Given the description of an element on the screen output the (x, y) to click on. 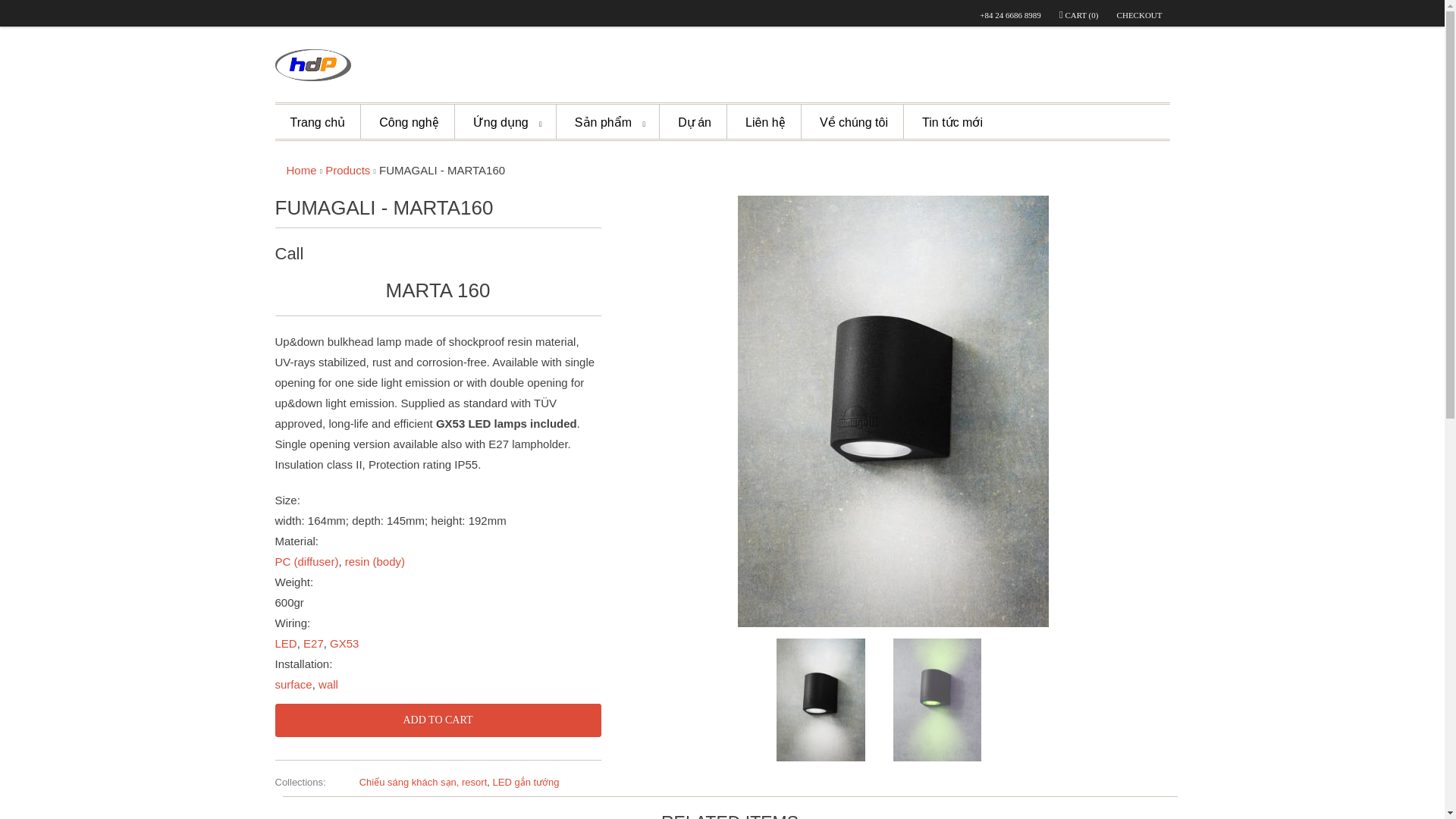
hdptech (312, 67)
CHECKOUT (1138, 15)
Products (346, 169)
hdptech (301, 169)
